Given the description of an element on the screen output the (x, y) to click on. 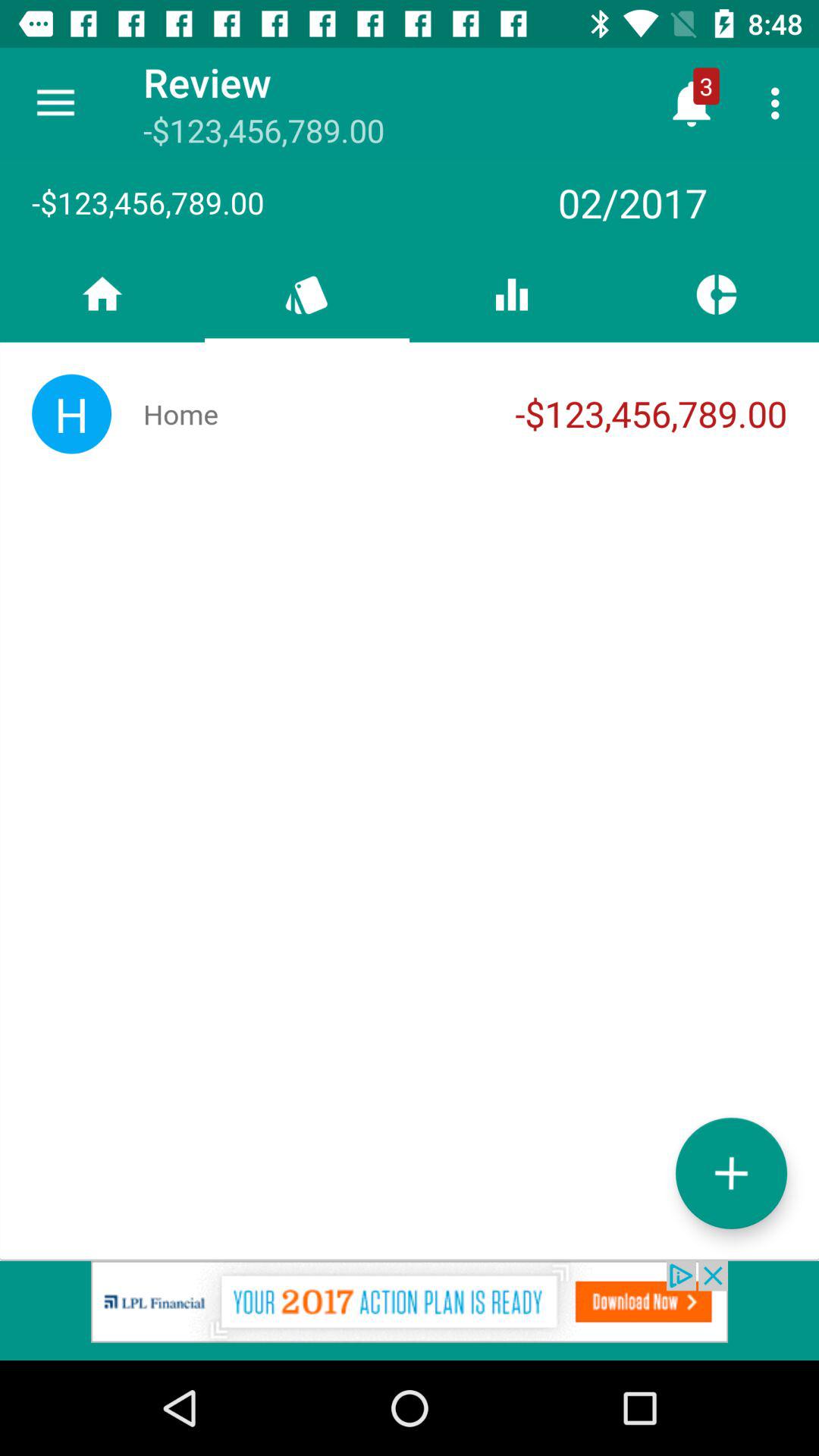
redirects the user to a website (409, 1310)
